Given the description of an element on the screen output the (x, y) to click on. 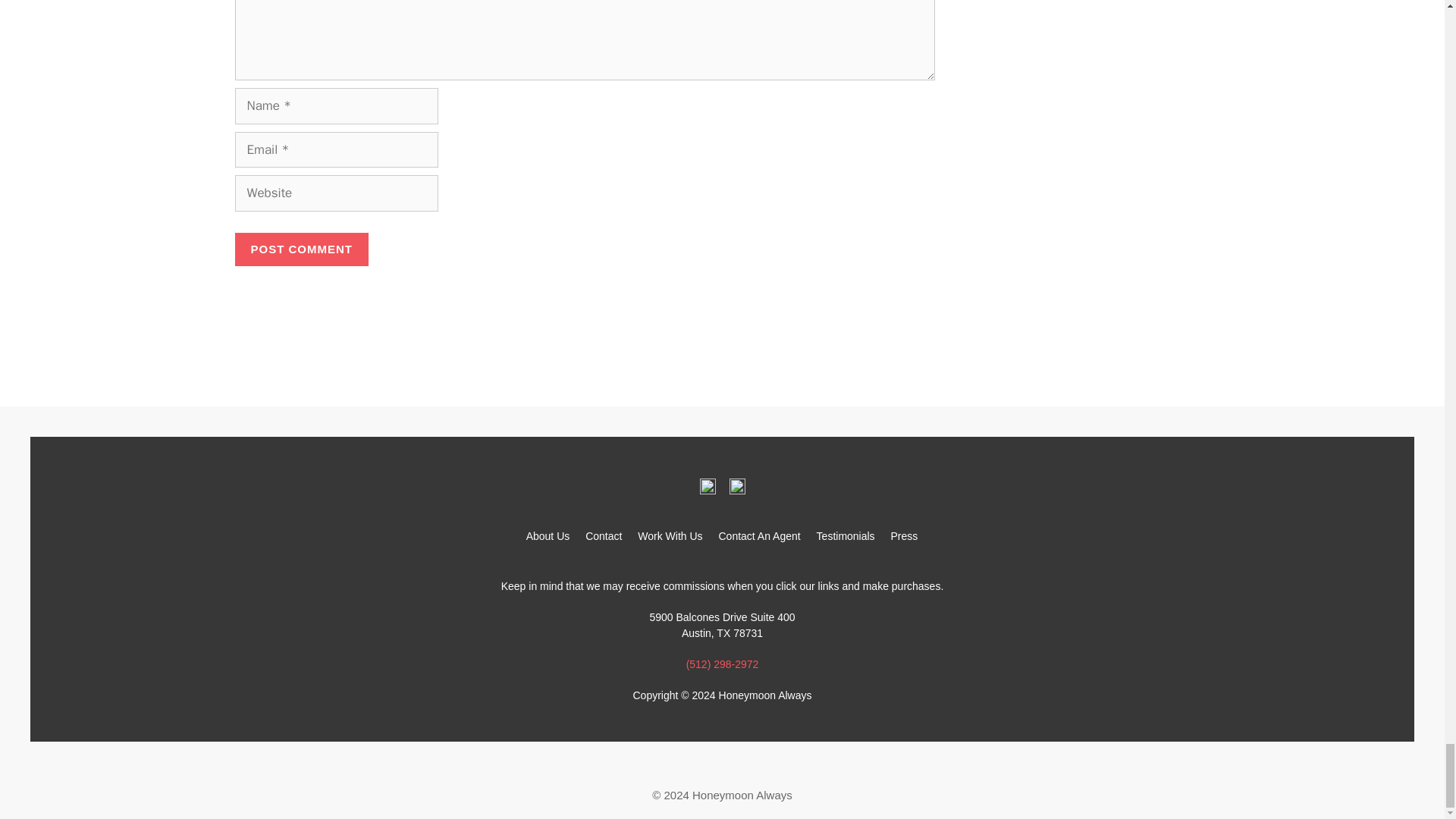
Post Comment (301, 249)
